Given the description of an element on the screen output the (x, y) to click on. 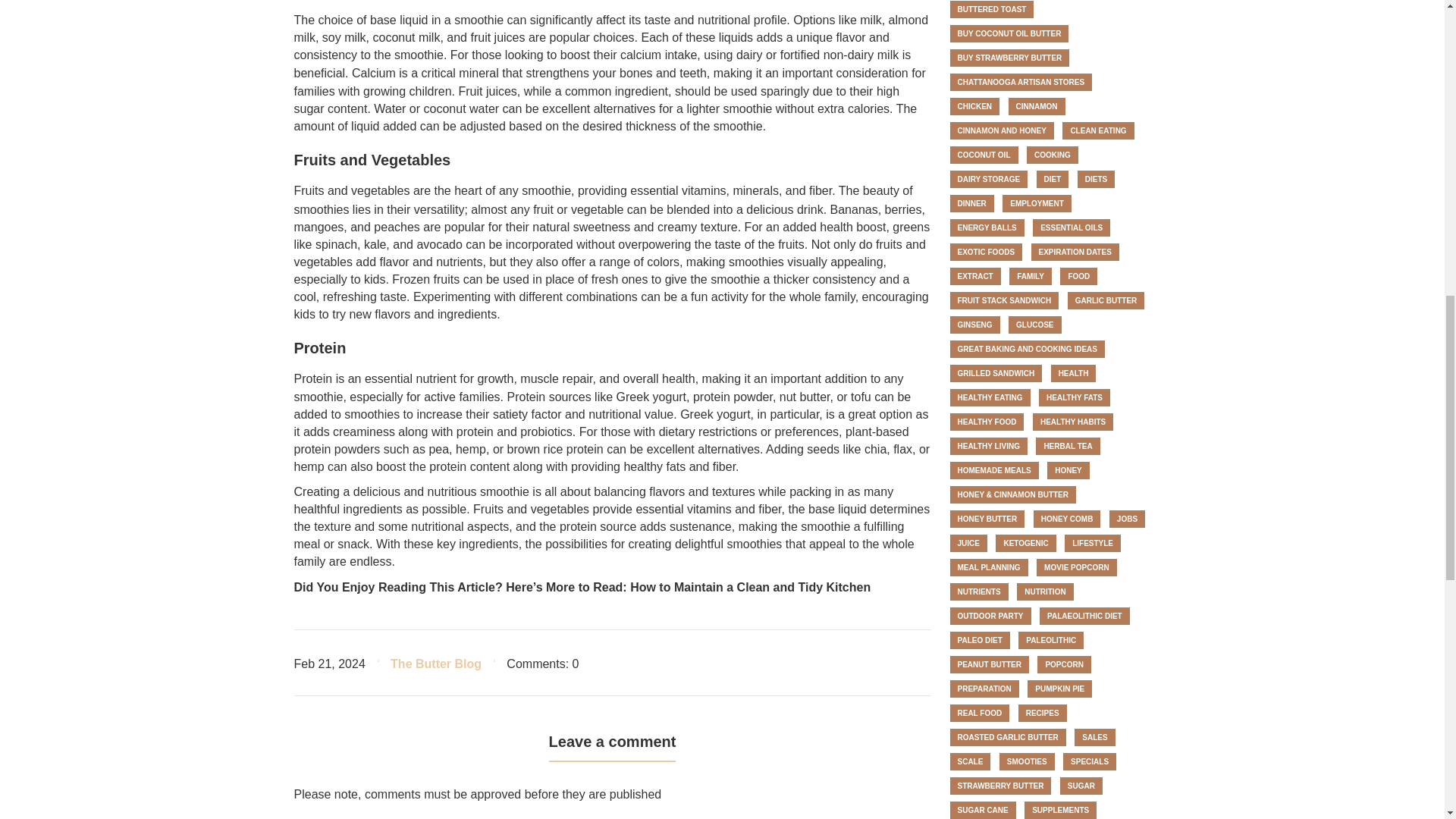
Narrow search to articles also having tag cinnamon (1037, 106)
strengthens your bones and teeth (615, 72)
The Butter Blog (435, 663)
Narrow search to articles also having tag buttered toast (991, 9)
providing essential vitamins, minerals, and fiber (704, 190)
Narrow search to articles also having tag chicken (973, 106)
How to Maintain a Clean and Tidy Kitchen (750, 586)
